Given the description of an element on the screen output the (x, y) to click on. 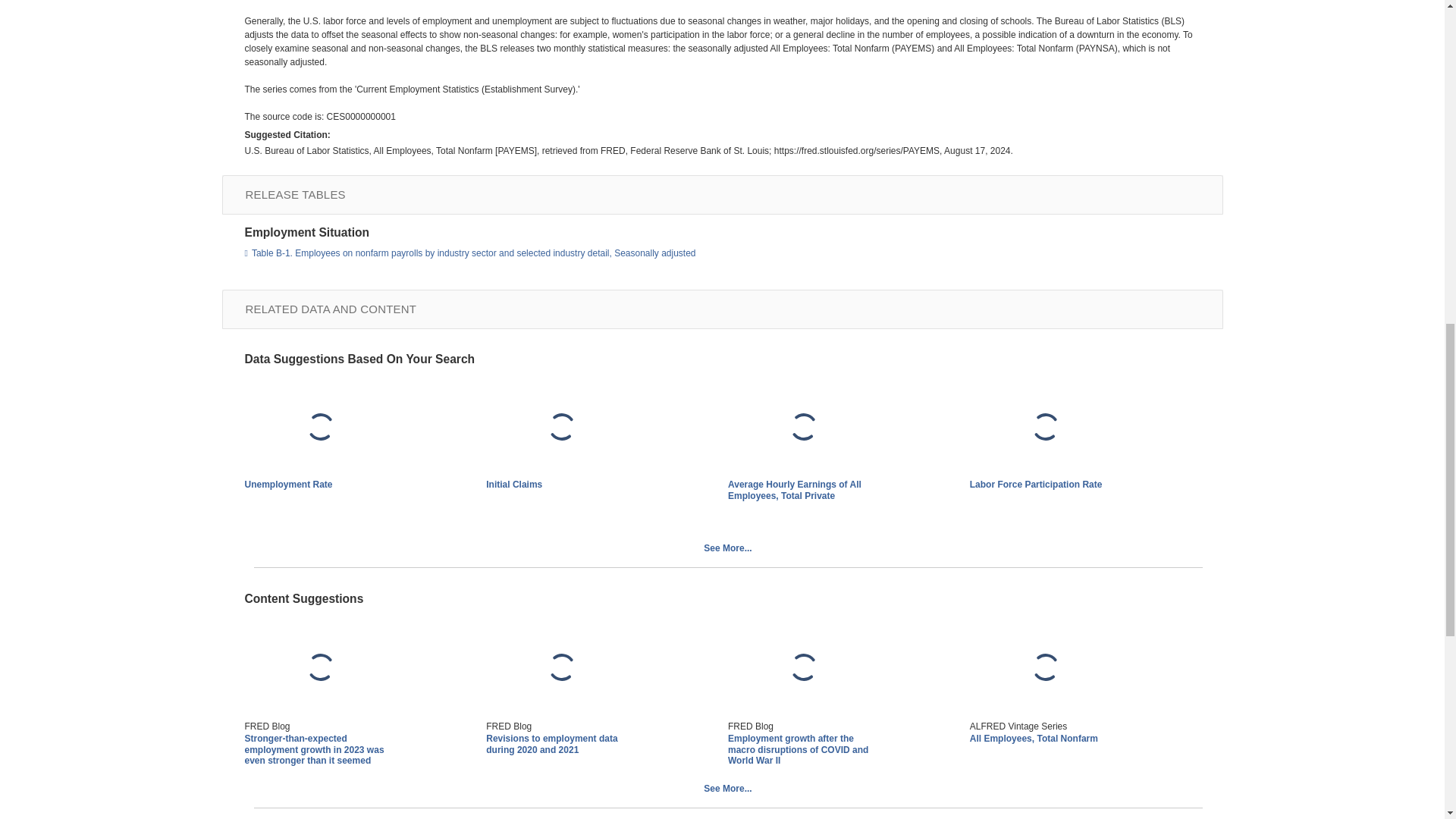
Labor Force Participation Rate (1045, 428)
Labor Force Participation Rate (1035, 484)
Initial Claims (513, 484)
Average Hourly Earnings of All Employees, Total Private (803, 428)
Unemployment Rate (287, 484)
Average Hourly Earnings of All Employees, Total Private (794, 489)
Initial Claims (561, 428)
Unemployment Rate (320, 428)
